Given the description of an element on the screen output the (x, y) to click on. 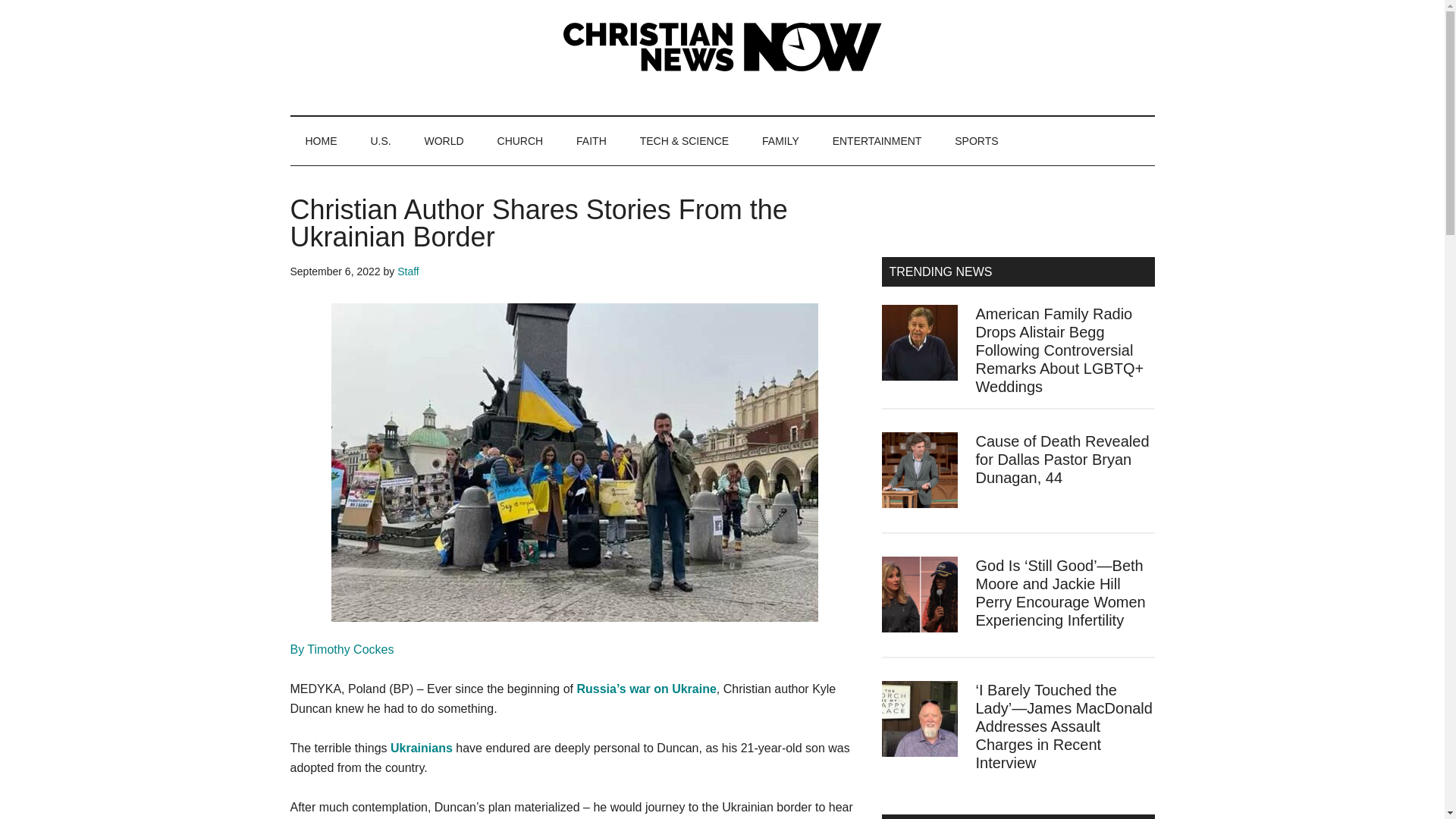
Ukrainians (422, 748)
HOME (320, 141)
WORLD (444, 141)
SPORTS (976, 141)
CHURCH (520, 141)
By Timothy Cockes (341, 649)
FAMILY (779, 141)
Cause of Death Revealed for Dallas Pastor Bryan Dunagan, 44 (1061, 459)
ENTERTAINMENT (876, 141)
FAITH (590, 141)
U.S. (380, 141)
Staff (408, 271)
